Given the description of an element on the screen output the (x, y) to click on. 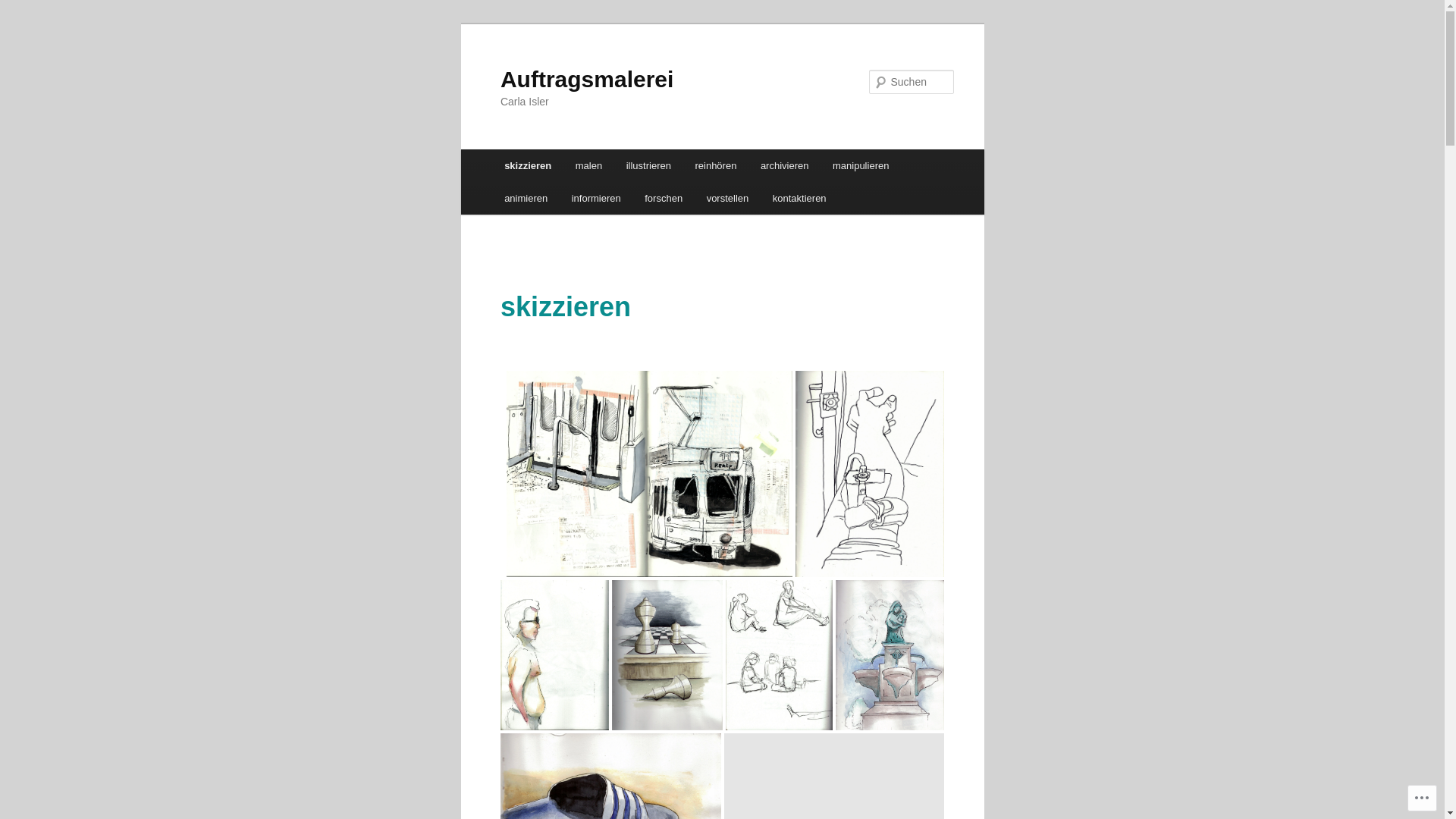
Auftragsmalerei Element type: text (586, 78)
Suchen Element type: text (25, 8)
vorstellen Element type: text (727, 198)
informieren Element type: text (596, 198)
skizzieren Element type: text (527, 165)
archivieren Element type: text (784, 165)
animieren Element type: text (525, 198)
forschen Element type: text (662, 198)
kontaktieren Element type: text (798, 198)
illustrieren Element type: text (648, 165)
manipulieren Element type: text (860, 165)
malen Element type: text (588, 165)
Zum Inhalt wechseln Element type: text (22, 22)
